Given the description of an element on the screen output the (x, y) to click on. 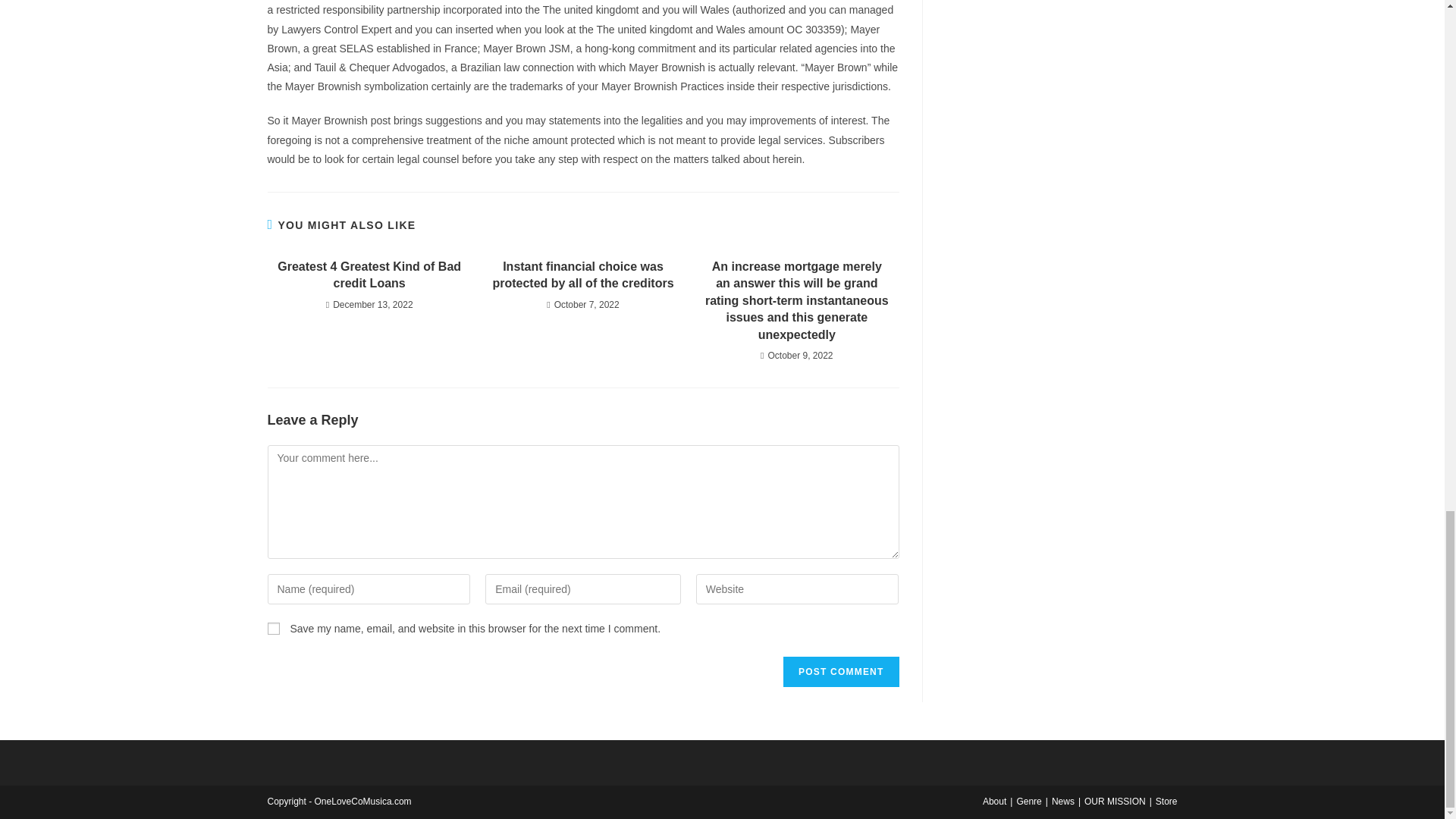
OUR MISSION (1114, 801)
Post Comment (840, 671)
News (1062, 801)
About (994, 801)
Store (1166, 801)
Post Comment (840, 671)
Greatest 4 Greatest Kind of Bad credit Loans (368, 275)
yes (272, 628)
